Given the description of an element on the screen output the (x, y) to click on. 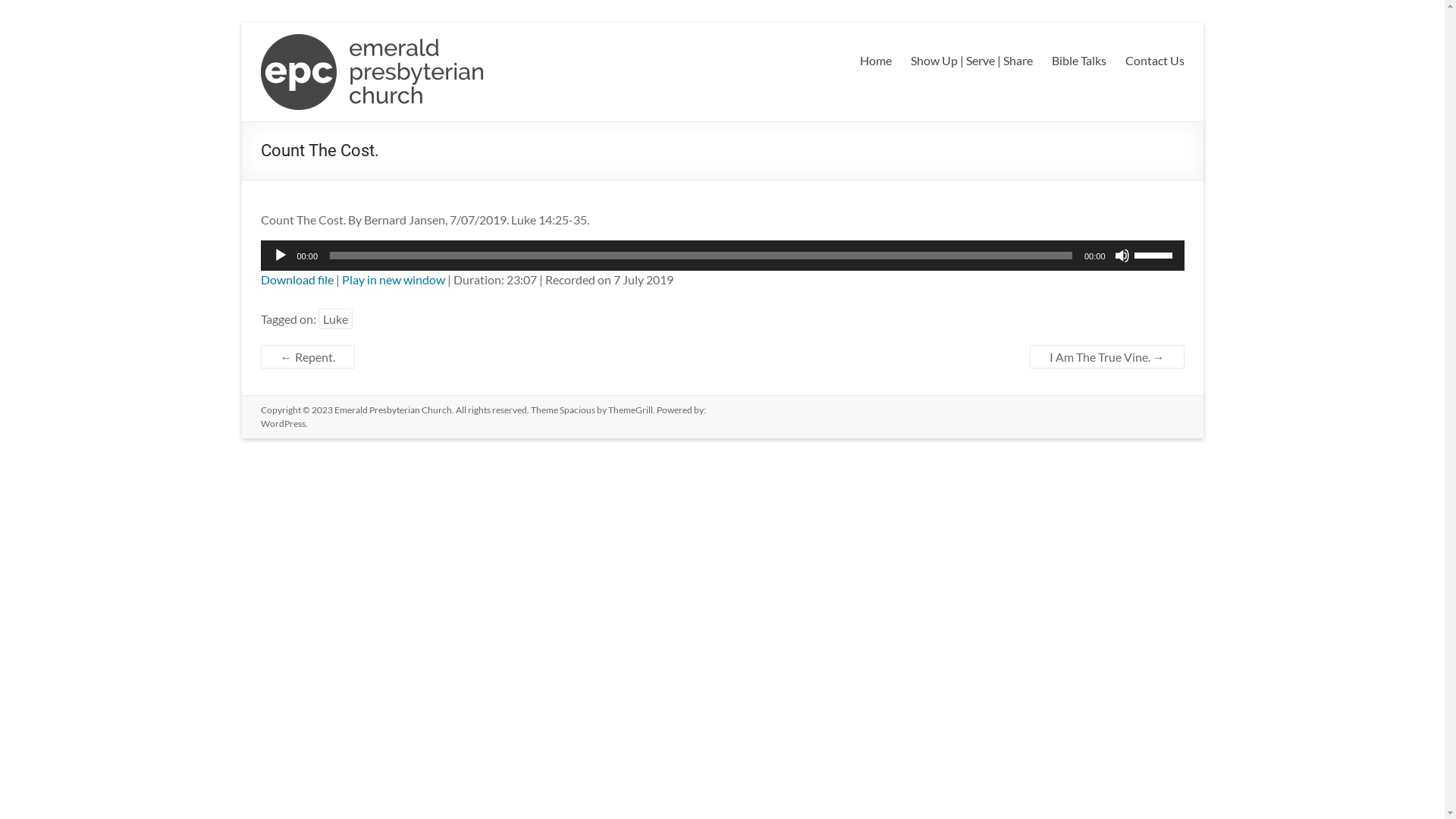
Play Element type: hover (280, 255)
Use Up/Down Arrow keys to increase or decrease volume. Element type: text (1155, 253)
Skip to content Element type: text (241, 21)
Mute Element type: hover (1121, 255)
Emerald Presbyterian Church Element type: text (335, 83)
WordPress Element type: text (282, 423)
Home Element type: text (875, 60)
Download file Element type: text (296, 279)
Spacious Element type: text (577, 409)
Emerald Presbyterian Church Element type: text (392, 409)
Luke Element type: text (335, 318)
Bible Talks Element type: text (1078, 60)
Play in new window Element type: text (392, 279)
Contact Us Element type: text (1154, 60)
Show Up | Serve | Share Element type: text (971, 60)
